Given the description of an element on the screen output the (x, y) to click on. 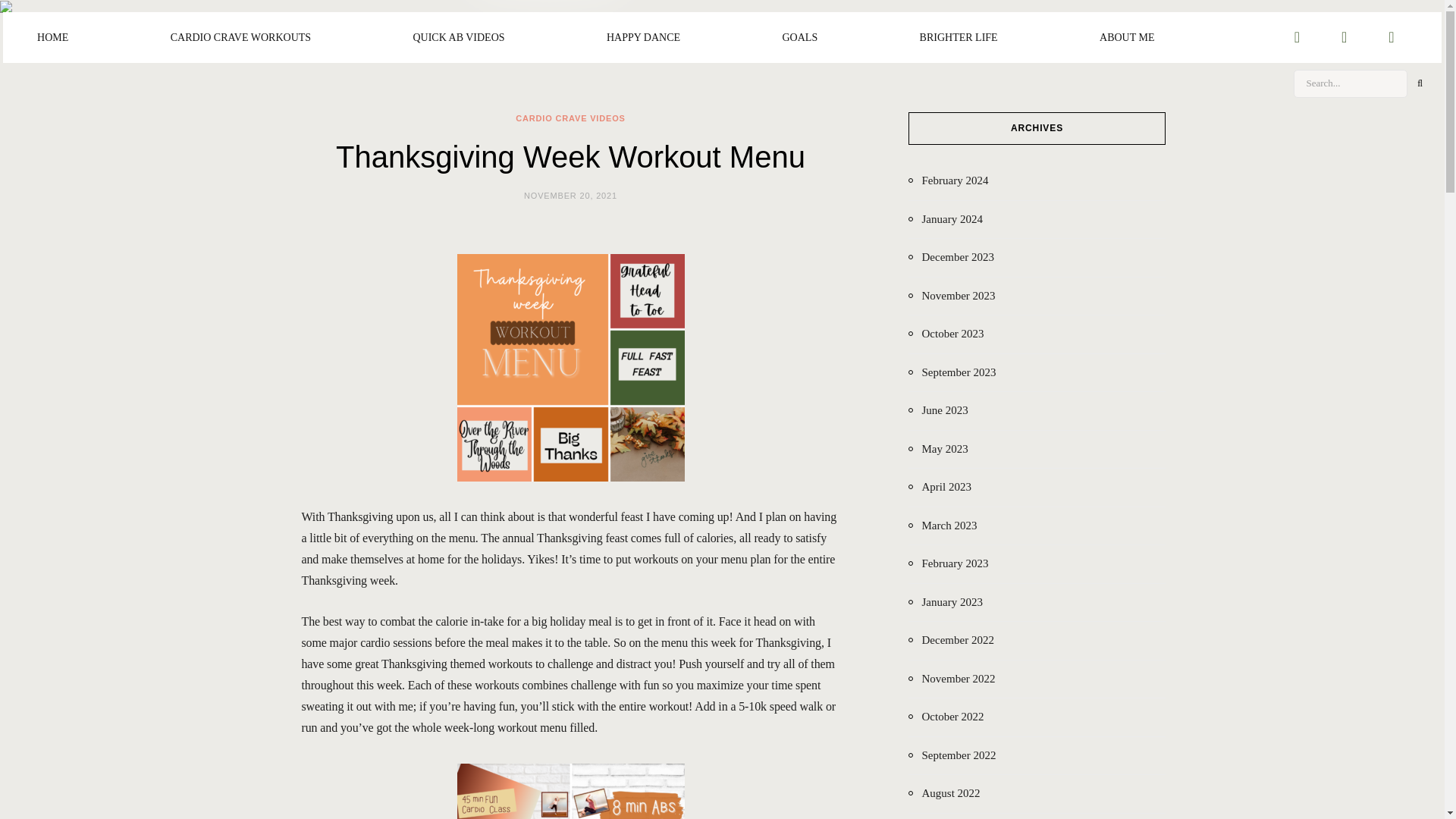
February 2024 (948, 180)
BRIGHTER LIFE (959, 37)
NOVEMBER 20, 2021 (570, 194)
CARDIO CRAVE VIDEOS (569, 118)
HAPPY DANCE (642, 37)
GOALS (799, 37)
ABOUT ME (1126, 37)
Search for: (1350, 83)
HOME (52, 37)
QUICK AB VIDEOS (458, 37)
CARDIO CRAVE WORKOUTS (240, 37)
